Given the description of an element on the screen output the (x, y) to click on. 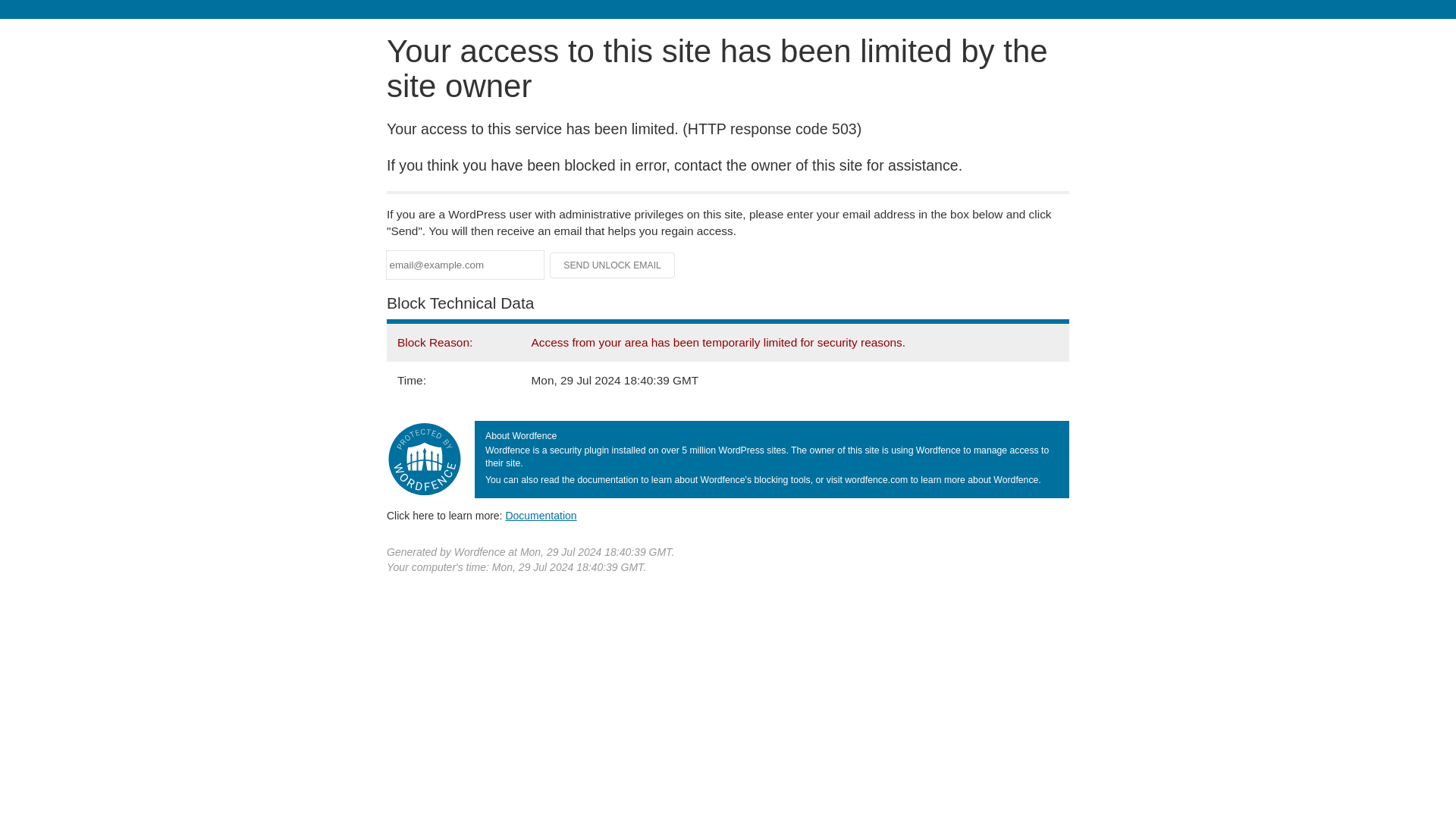
Documentation (540, 515)
Send Unlock Email (612, 265)
Send Unlock Email (612, 265)
